Given the description of an element on the screen output the (x, y) to click on. 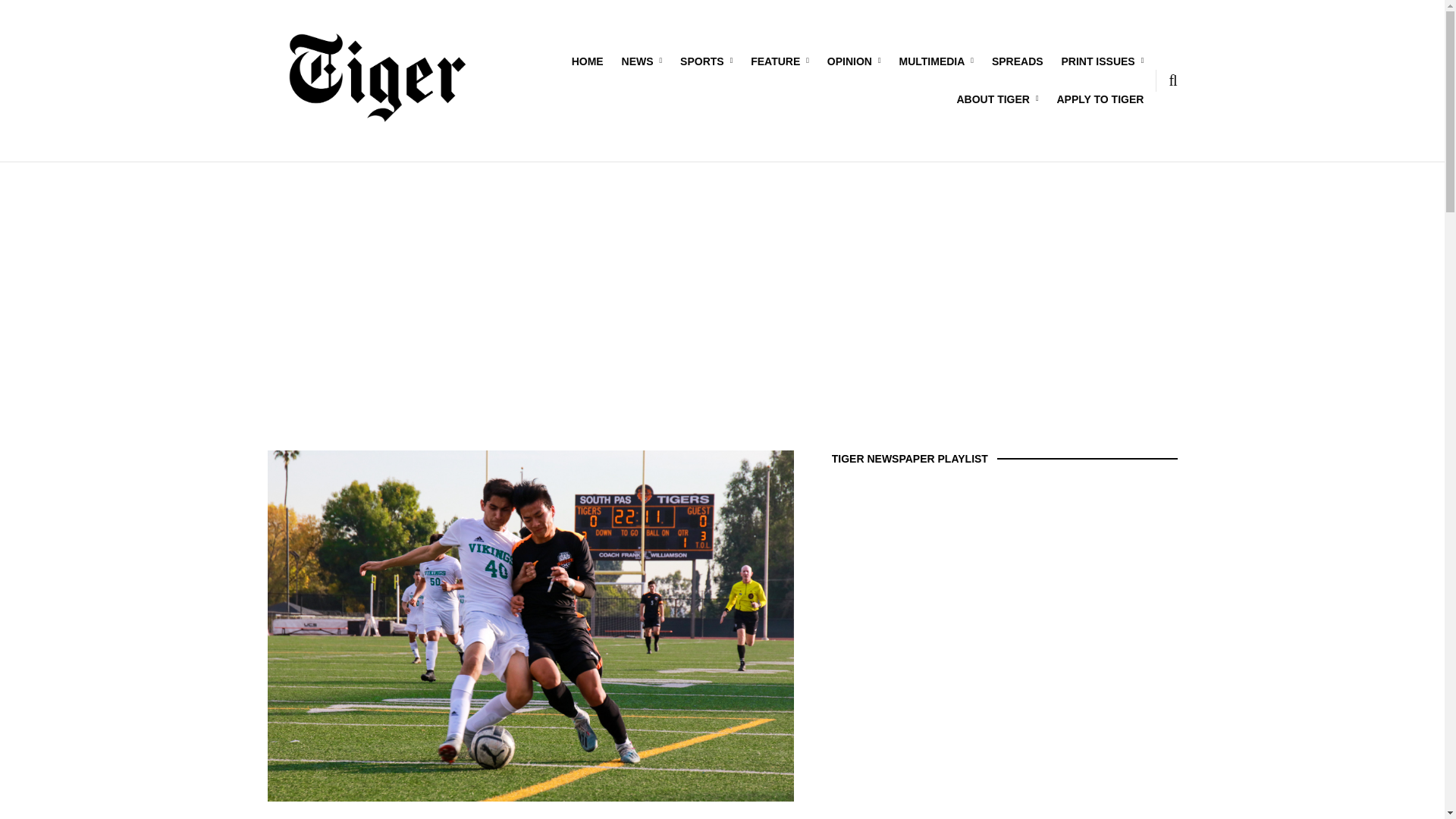
NEWS (641, 61)
SPORTS (705, 61)
